Given the description of an element on the screen output the (x, y) to click on. 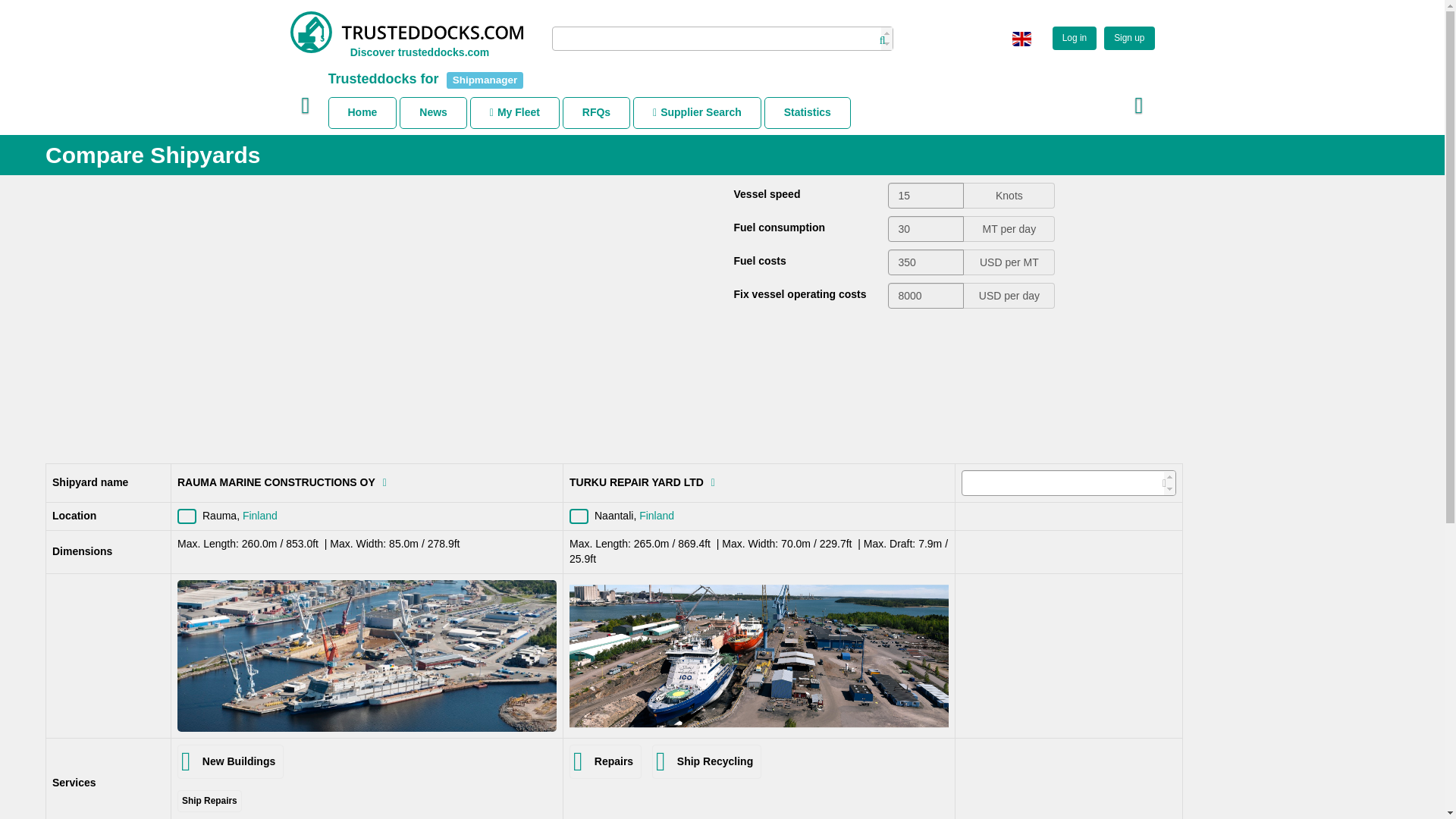
Statistics (807, 112)
TURKU REPAIR YARD LTD (759, 655)
RFQs (596, 112)
8000 (925, 295)
15 (925, 195)
Log in (1074, 37)
My Fleet (514, 112)
Sign up (1125, 37)
Discover trusteddocks.com (418, 56)
News (433, 112)
RAUMA MARINE CONSTRUCTIONS OY (366, 655)
www.trusteddocks.com (405, 32)
Discover trusteddocks.com (418, 56)
Sign up (1128, 37)
350 (925, 262)
